Given the description of an element on the screen output the (x, y) to click on. 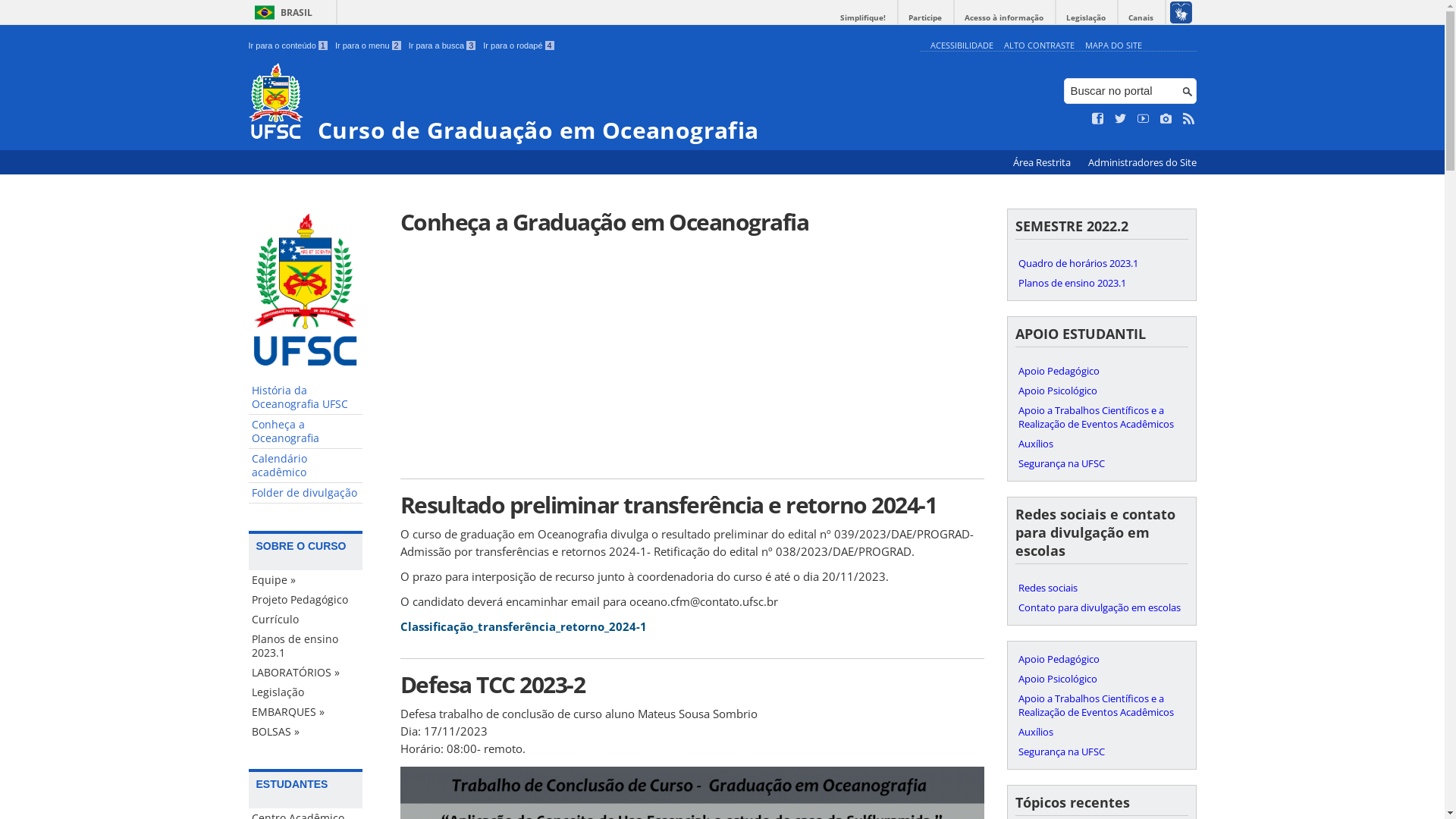
Participe Element type: text (924, 18)
Canais Element type: text (1140, 18)
Ir para o menu 2 Element type: text (368, 45)
Simplifique! Element type: text (862, 18)
Siga no Twitter Element type: hover (1120, 118)
Planos de ensino 2023.1 Element type: text (305, 645)
ACESSIBILIDADE Element type: text (960, 44)
MAPA DO SITE Element type: text (1112, 44)
Curta no Facebook Element type: hover (1098, 118)
Ir para a busca 3 Element type: text (442, 45)
Redes sociais Element type: text (1100, 587)
Planos de ensino 2023.1 Element type: text (1100, 282)
Defesa TCC 2023-2 Element type: text (692, 684)
ALTO CONTRASTE Element type: text (1039, 44)
Administradores do Site Element type: text (1141, 162)
BRASIL Element type: text (280, 12)
Veja no Instagram Element type: hover (1166, 118)
